Given the description of an element on the screen output the (x, y) to click on. 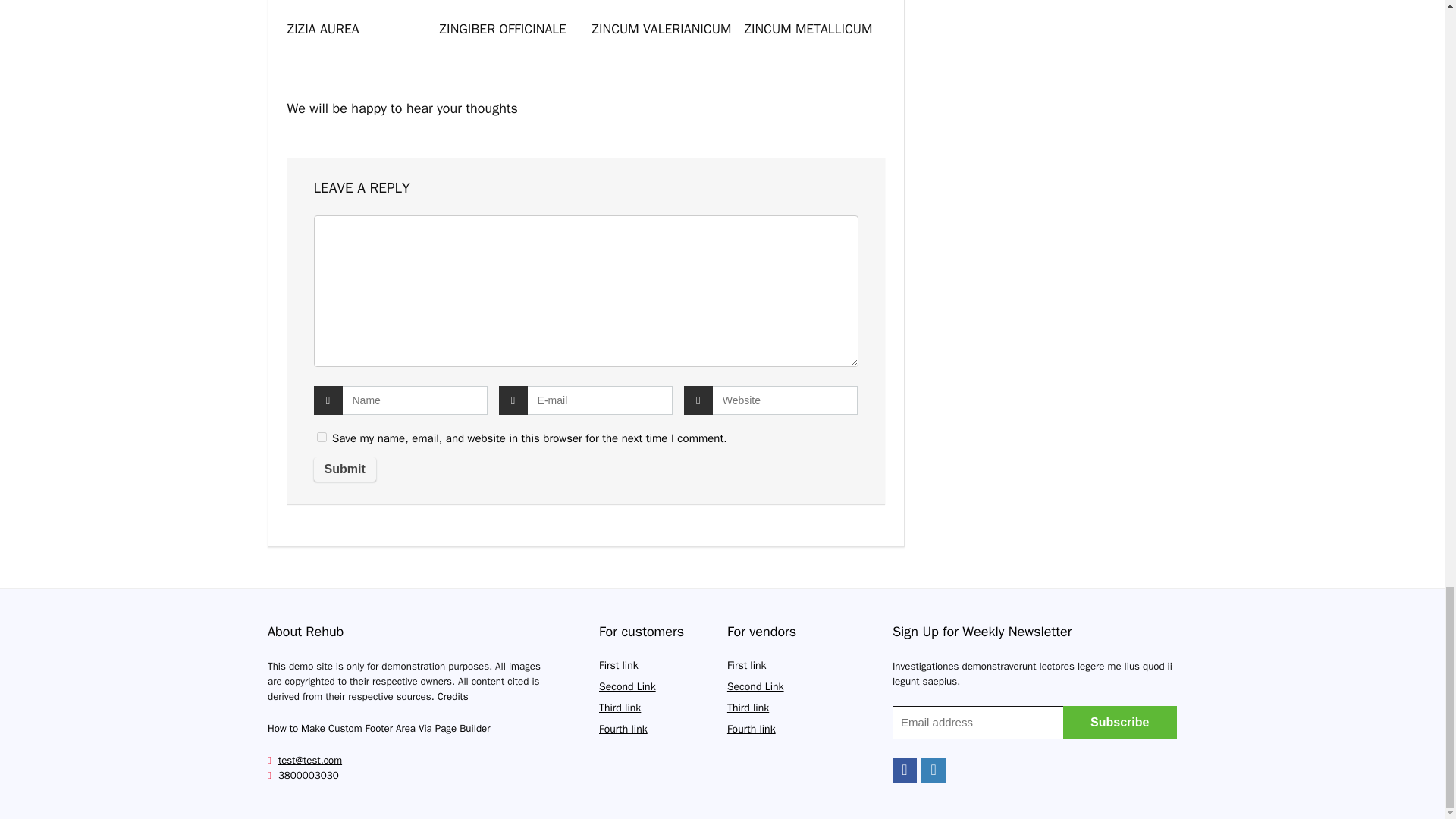
Submit (344, 469)
yes (321, 437)
Subscribe (1119, 722)
